Given the description of an element on the screen output the (x, y) to click on. 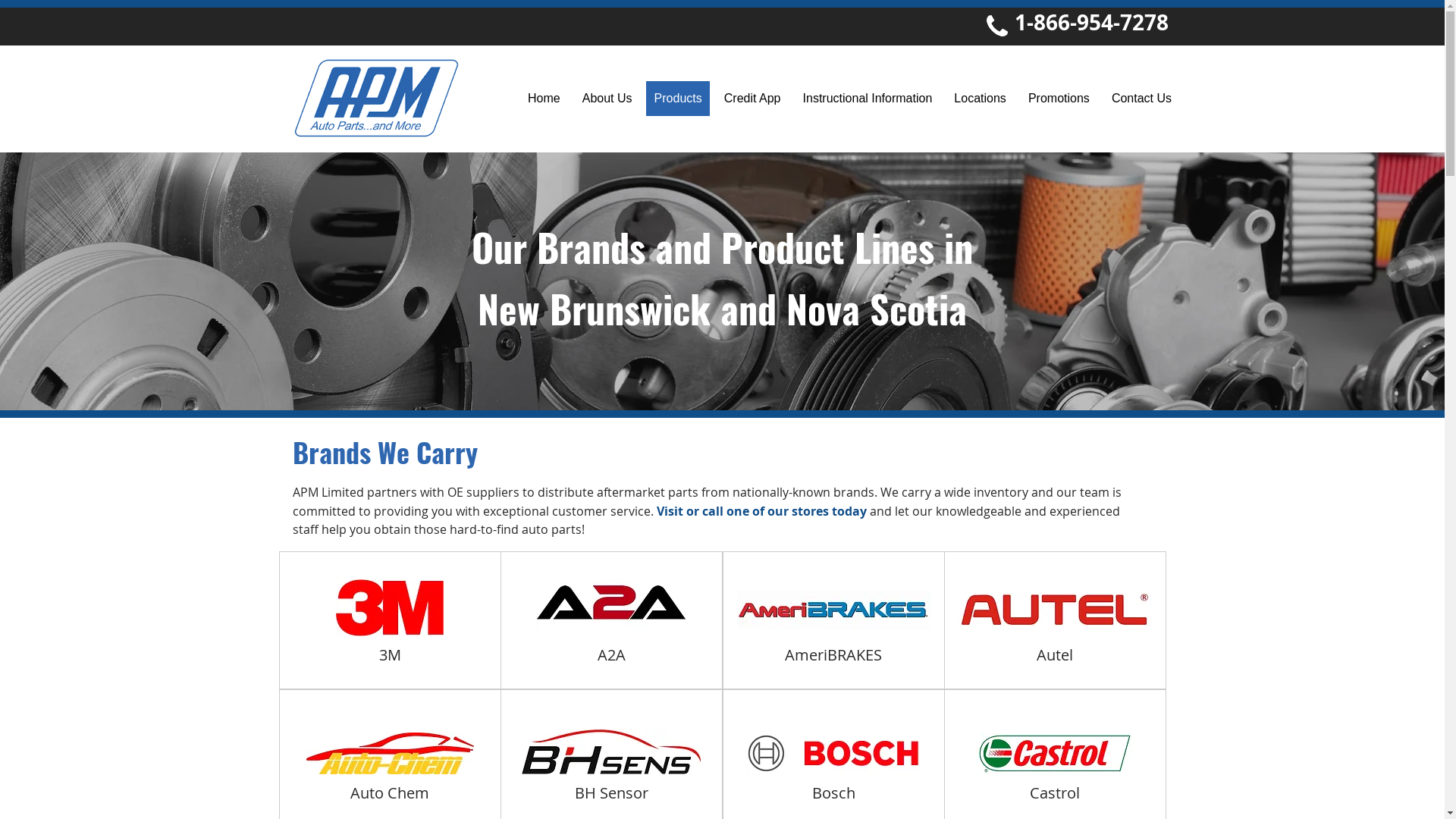
Products Element type: text (677, 98)
Home Element type: text (544, 98)
About Us Element type: text (607, 98)
Instructional Information Element type: text (867, 98)
Credit App Element type: text (751, 98)
1-866-954-7278 Element type: text (1091, 24)
Locations Element type: text (980, 98)
Visit or call one of our stores today Element type: text (761, 510)
Contact Us Element type: text (1141, 98)
Promotions Element type: text (1058, 98)
